Given the description of an element on the screen output the (x, y) to click on. 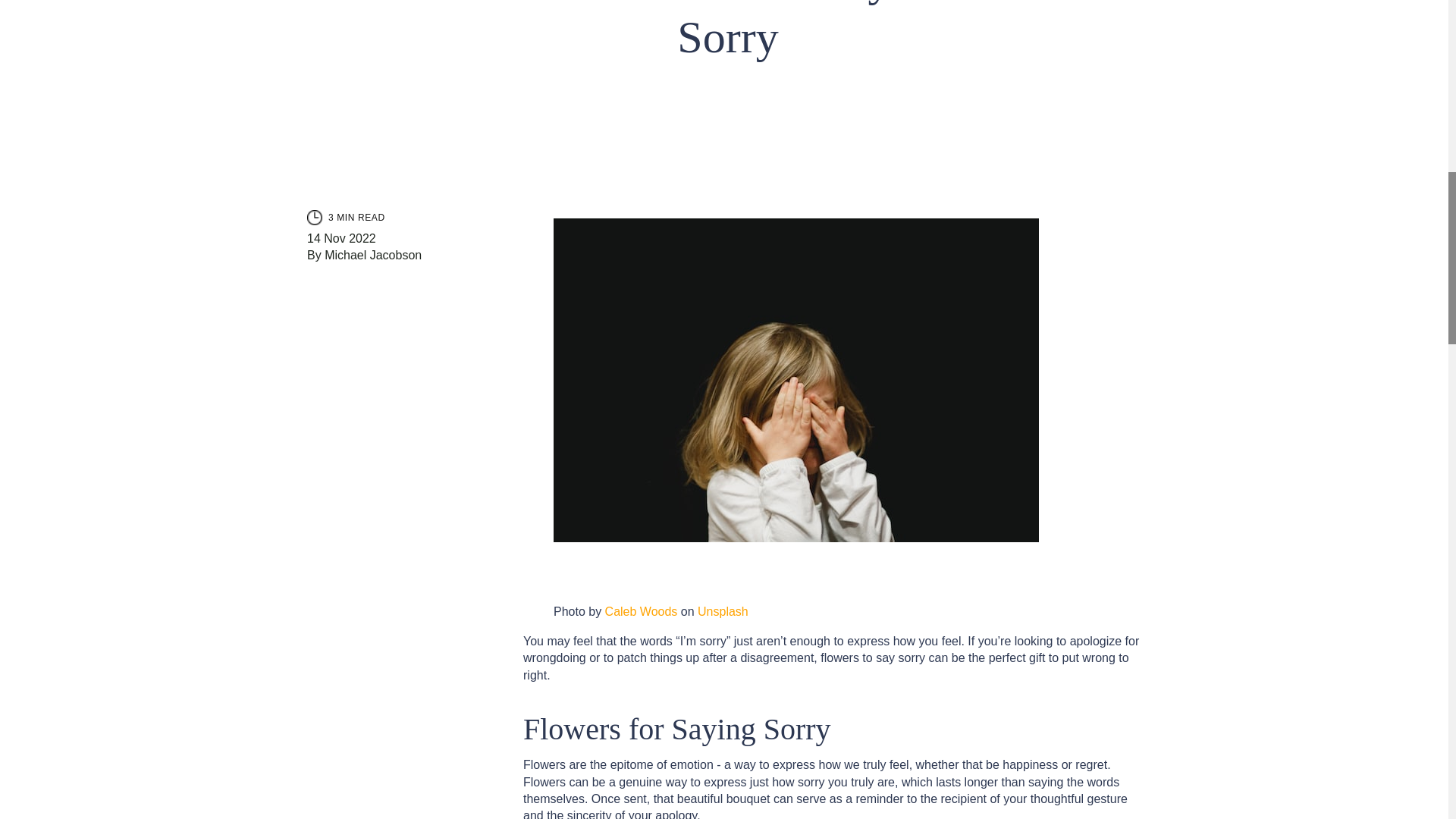
instagram icon (314, 217)
